Given the description of an element on the screen output the (x, y) to click on. 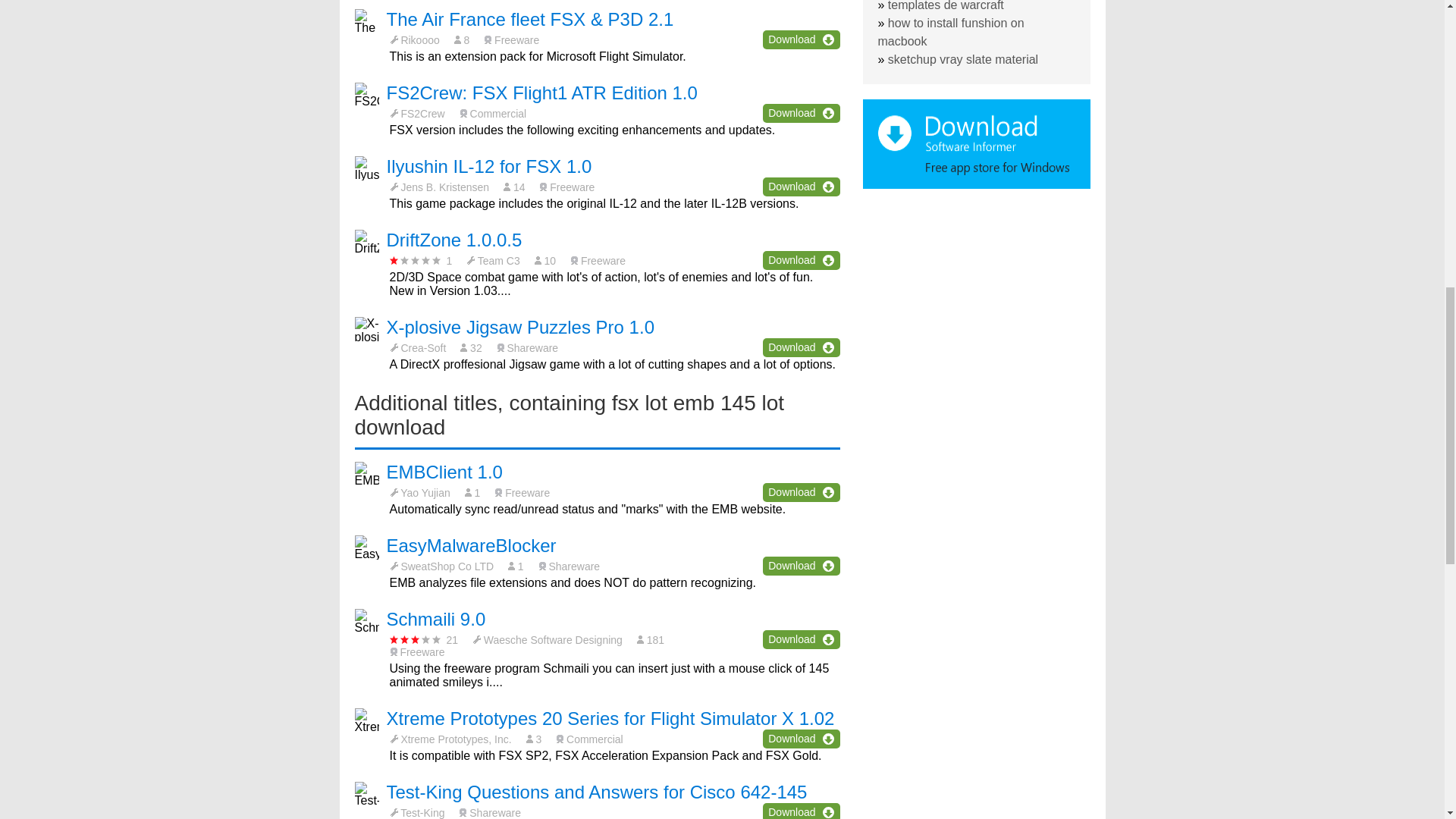
Download (801, 347)
Schmaili 9.0 (436, 619)
Download (801, 260)
Ilyushin IL-12 for FSX 1.0 (489, 166)
FS2Crew: FSX Flight1 ATR Edition 1.0 (542, 92)
Download (801, 565)
Download (801, 39)
Download (801, 492)
EMBClient 1.0 (444, 471)
EasyMalwareBlocker (471, 545)
